Given the description of an element on the screen output the (x, y) to click on. 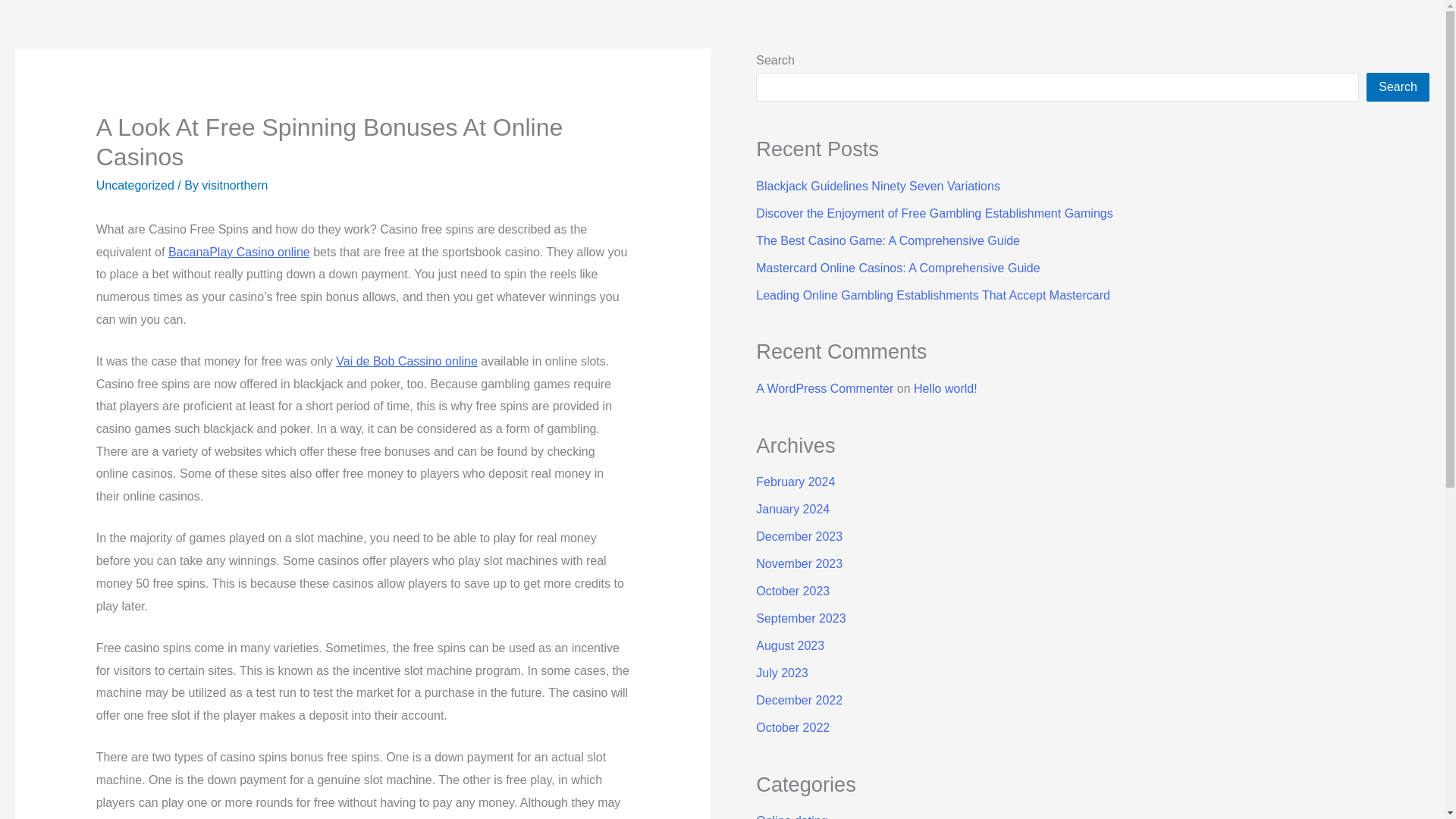
Search (1398, 86)
The Best Casino Game: A Comprehensive Guide (887, 240)
January 2024 (792, 508)
July 2023 (781, 672)
December 2023 (799, 535)
View all posts by visitnorthern (234, 185)
November 2023 (799, 563)
December 2022 (799, 699)
October 2022 (792, 727)
Mastercard Online Casinos: A Comprehensive Guide (897, 267)
Hello world! (945, 388)
October 2023 (792, 590)
Vai de Bob Cassino online (406, 360)
